Given the description of an element on the screen output the (x, y) to click on. 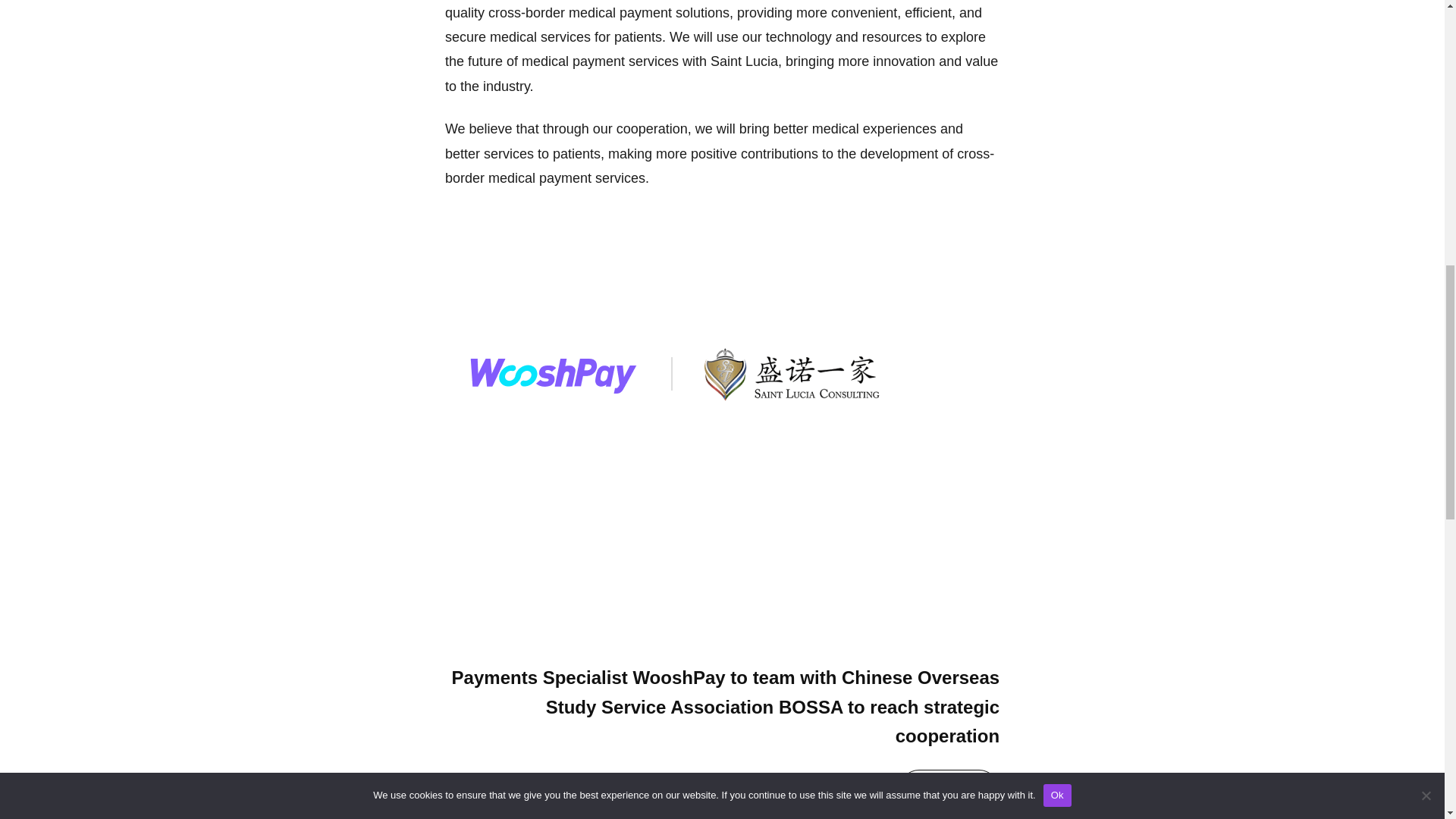
Next (948, 789)
